Given the description of an element on the screen output the (x, y) to click on. 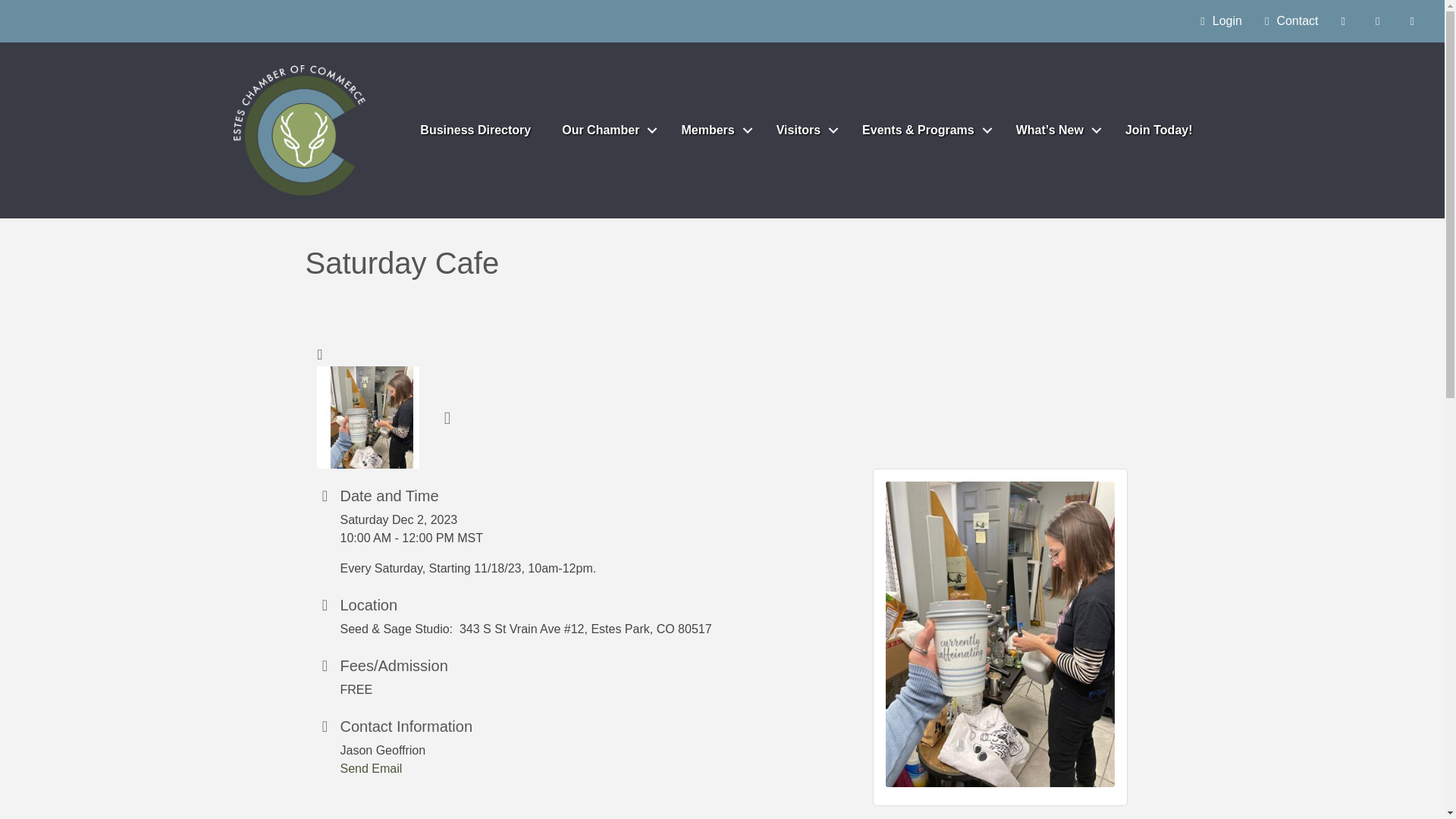
Contact (1288, 21)
Login (1216, 21)
EstesLogoVertical-1 (299, 130)
Business Directory (475, 130)
Our Chamber (606, 130)
Members (712, 130)
Visitors (803, 130)
